Given the description of an element on the screen output the (x, y) to click on. 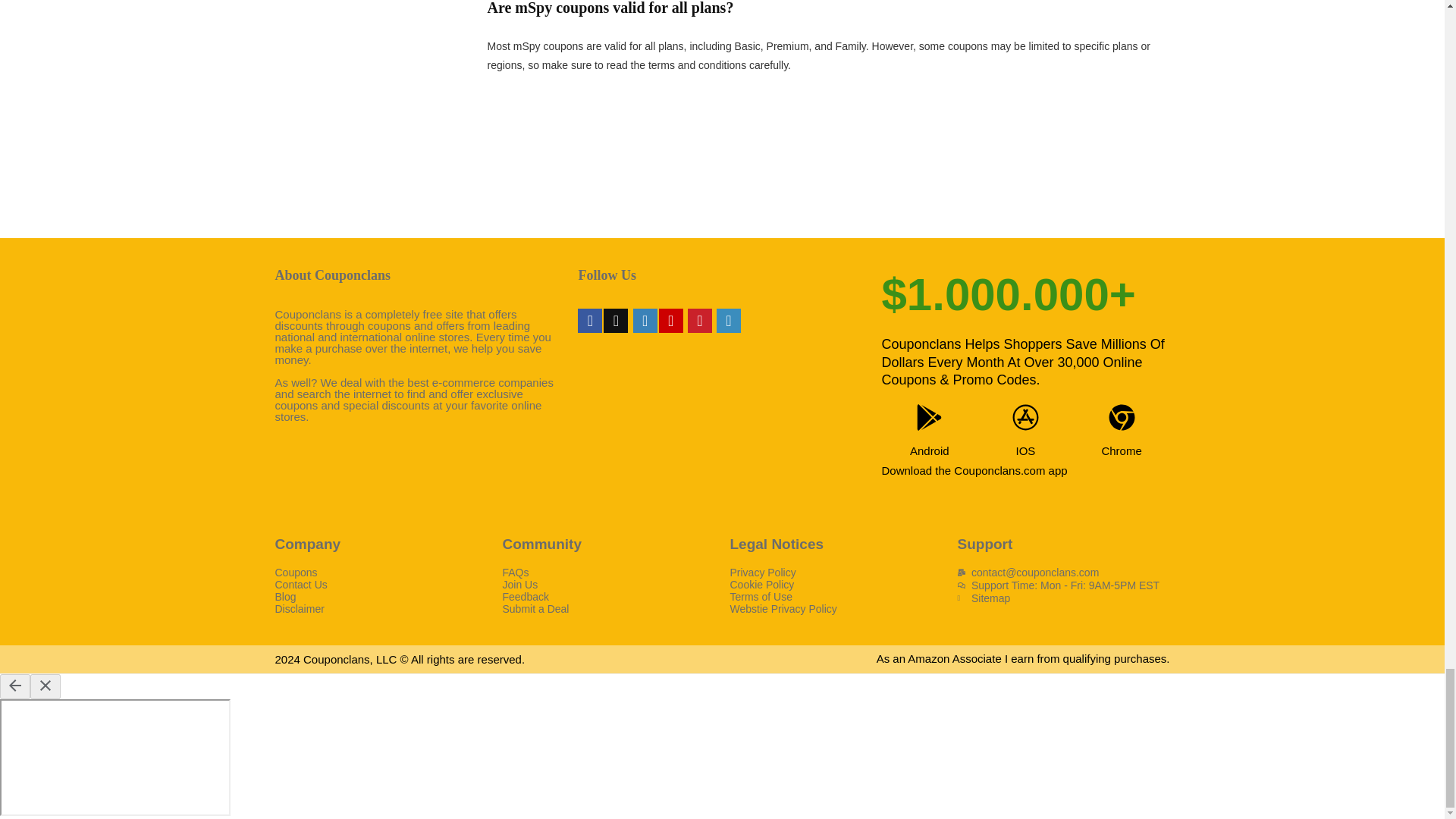
twitter (615, 320)
Facebook (590, 320)
Pinterest (699, 320)
Youtube (670, 320)
Instagramm (645, 320)
Android (929, 450)
